Given the description of an element on the screen output the (x, y) to click on. 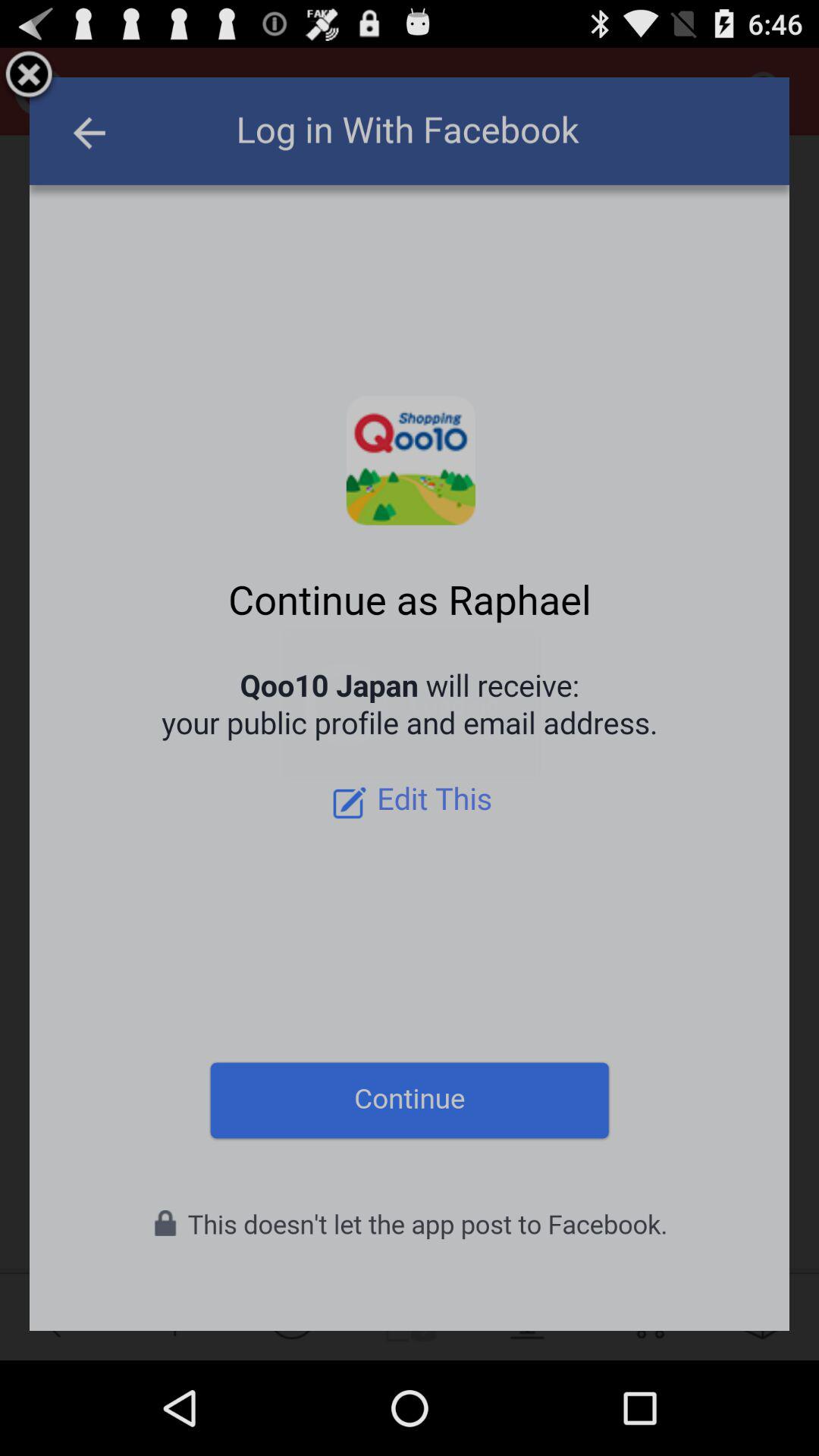
turn on icon at the center (409, 703)
